Given the description of an element on the screen output the (x, y) to click on. 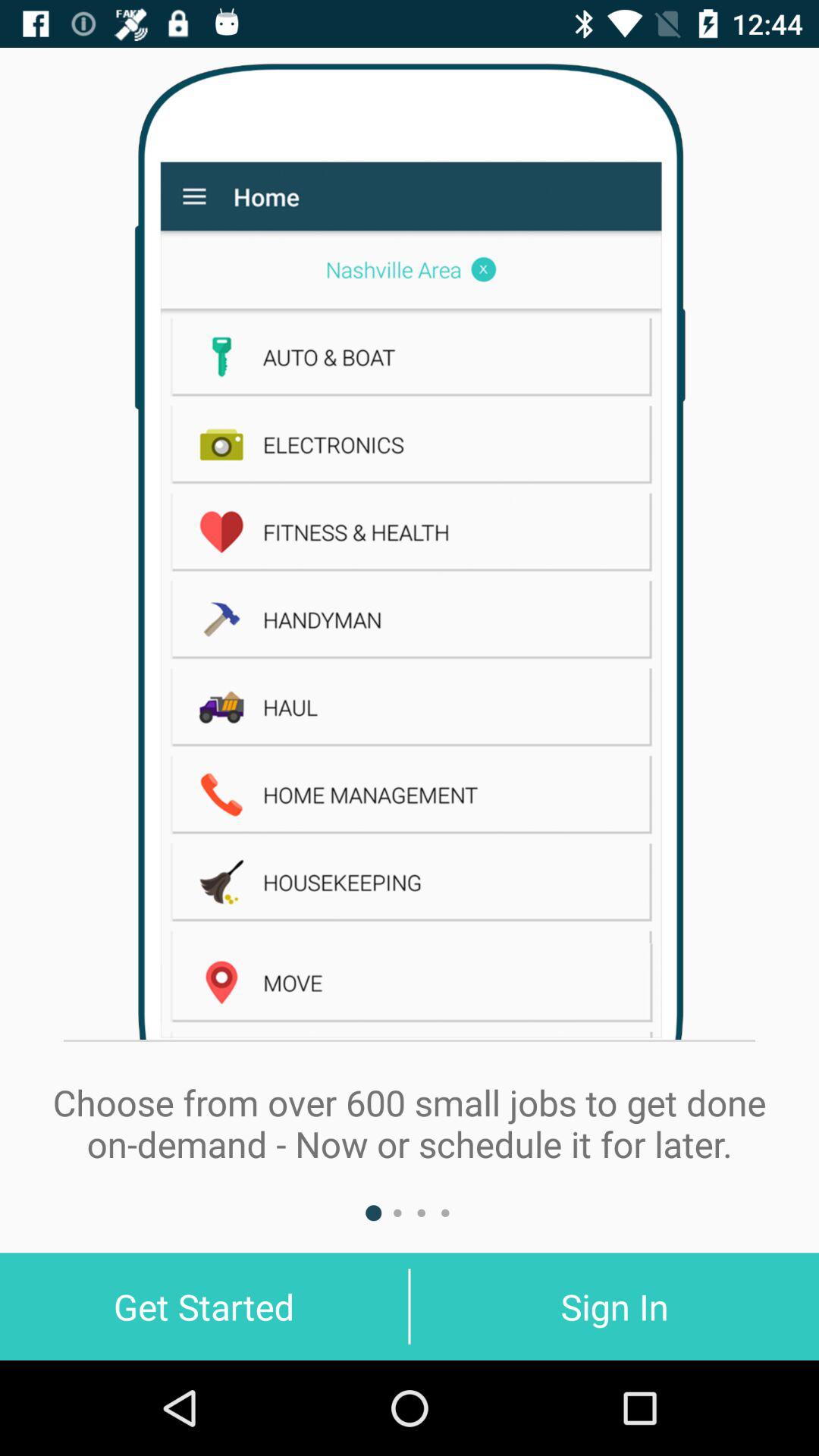
scroll until the sign in (614, 1306)
